Given the description of an element on the screen output the (x, y) to click on. 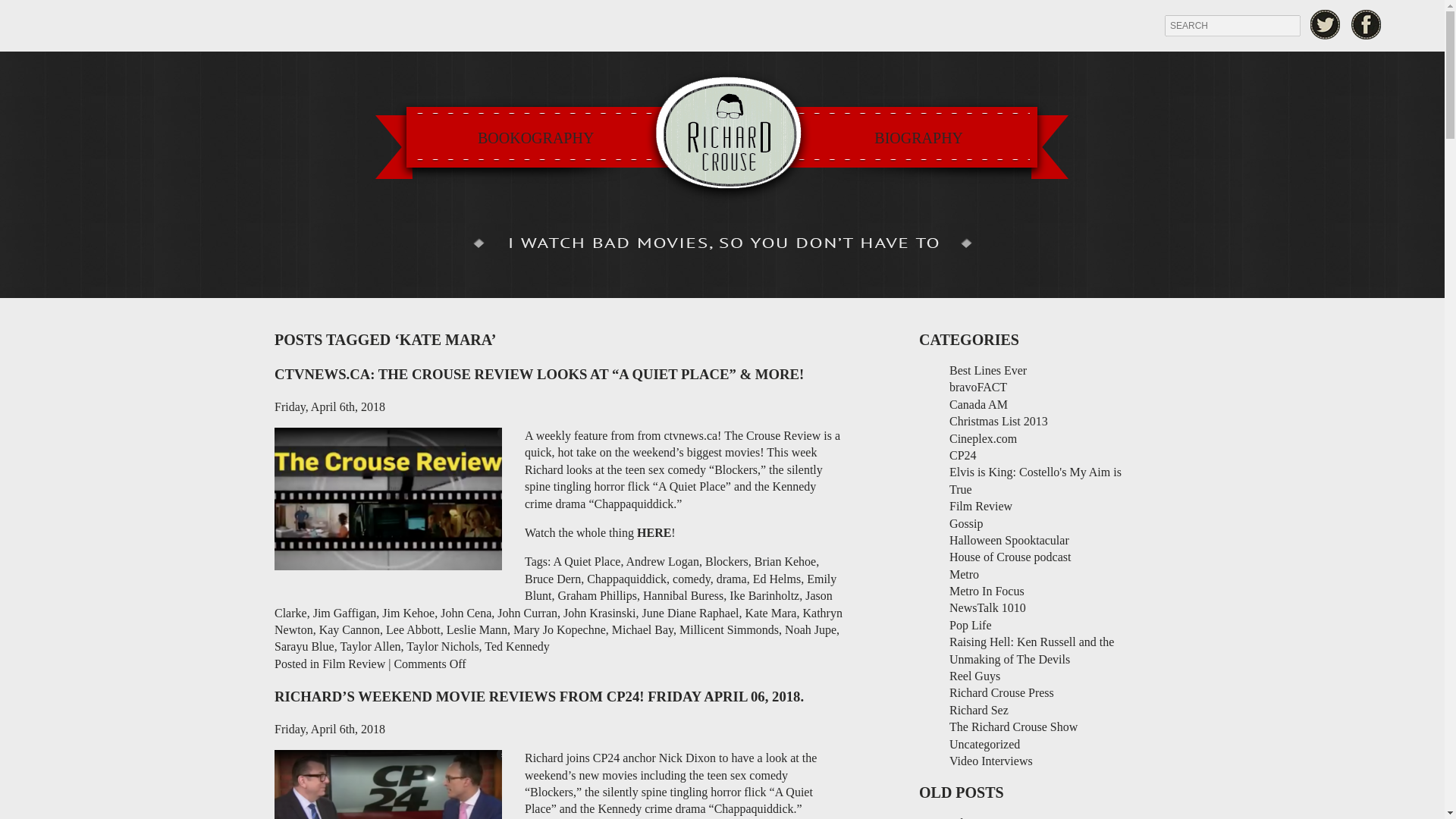
A Quiet Place (587, 561)
John Cena (466, 612)
Sarayu Blue (304, 645)
Andrew Logan (662, 561)
John Curran (527, 612)
Jim Gaffigan (345, 612)
Richard Crouse (721, 137)
Leslie Mann (476, 629)
June Diane Raphael (690, 612)
Lee Abbott (413, 629)
Facebook (1366, 24)
Emily Blunt (679, 586)
Ed Helms (777, 578)
Twitter (1324, 24)
BOOKOGRAPHY (535, 137)
